Given the description of an element on the screen output the (x, y) to click on. 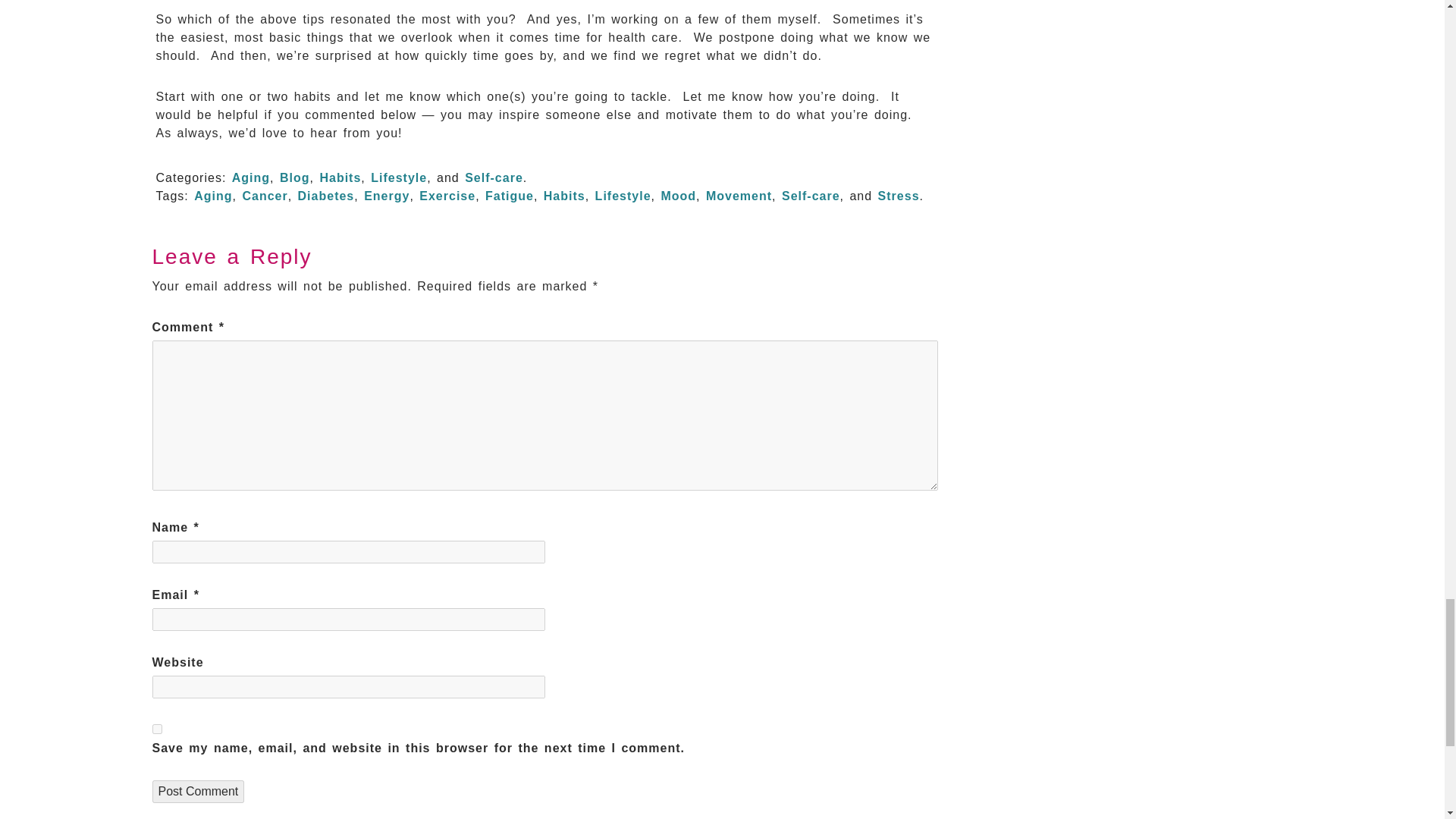
Self-care (493, 177)
Post Comment (197, 791)
yes (156, 728)
Self-care (810, 195)
Cancer (263, 195)
Mood (678, 195)
Lifestyle (622, 195)
Aging (250, 177)
Blog (294, 177)
Diabetes (326, 195)
